Given the description of an element on the screen output the (x, y) to click on. 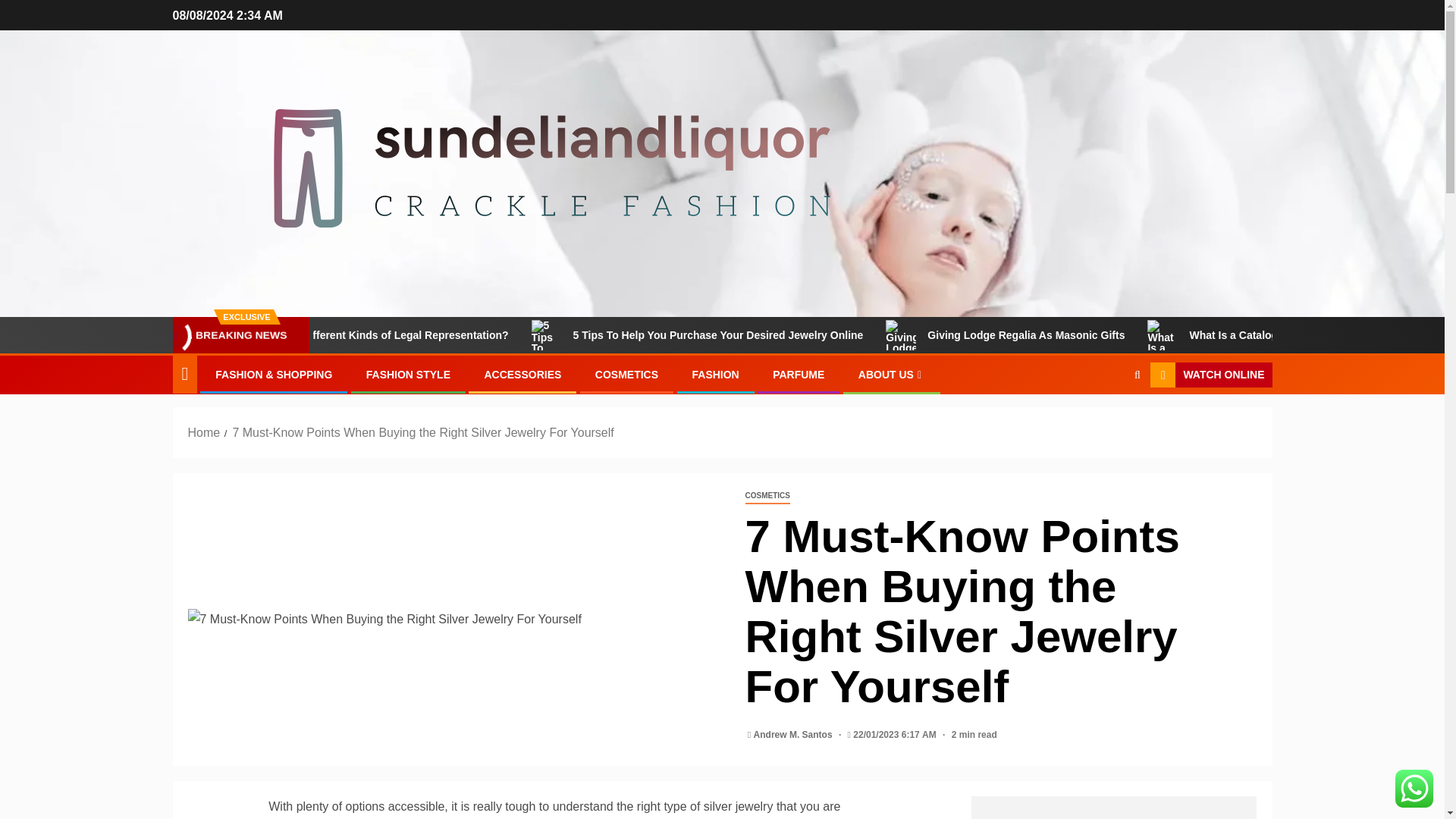
WATCH ONLINE (1210, 375)
FASHION STYLE (407, 374)
What Are Different Kinds of Legal Representation? (465, 335)
FASHION (714, 374)
Home (204, 431)
COSMETICS (626, 374)
ABOUT US (891, 374)
Andrew M. Santos (794, 734)
ACCESSORIES (521, 374)
5 Tips To Help You Purchase Your Desired Jewelry Online (802, 335)
Giving Lodge Regalia As Masonic Gifts (1110, 335)
COSMETICS (766, 496)
PARFUME (798, 374)
